Given the description of an element on the screen output the (x, y) to click on. 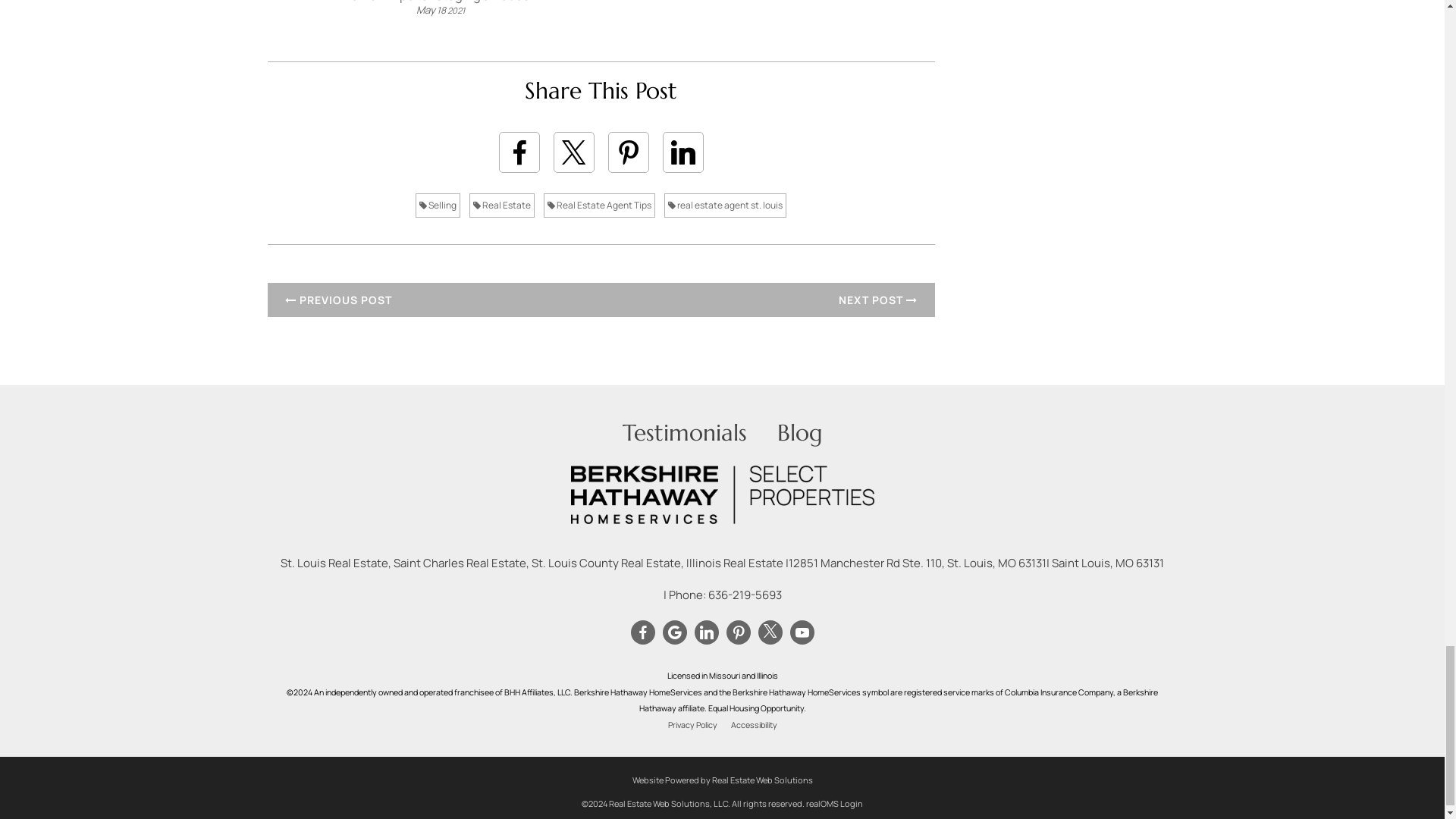
Share on Pinterest (628, 151)
Visit me on Google (673, 632)
Blog (799, 432)
Visit me on LinkedIn (705, 632)
Visit me on YouTube (801, 632)
Share on X (573, 151)
Visit me on Pinterest (737, 632)
Share on Linked In (682, 151)
Visit me on Facebook (641, 632)
Testimonials (683, 432)
Share on Facebook (519, 151)
